Given the description of an element on the screen output the (x, y) to click on. 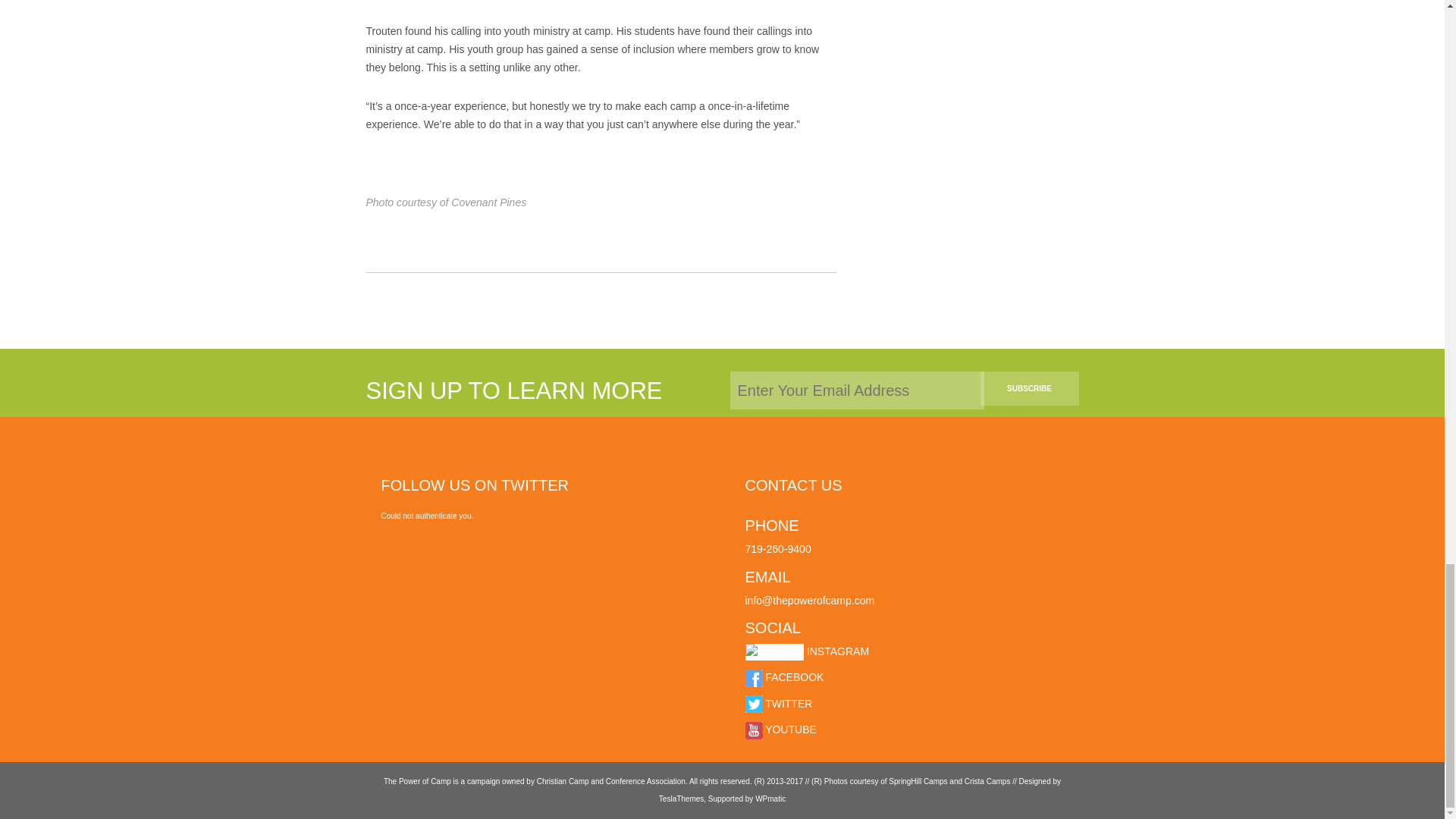
INSTAGRAM (806, 651)
Subscribe (1028, 388)
FACEBOOK (784, 676)
Subscribe (1028, 388)
TeslaThemes (681, 798)
TWITTER (778, 703)
719-260-9400 (777, 548)
YOUTUBE (779, 729)
